Given the description of an element on the screen output the (x, y) to click on. 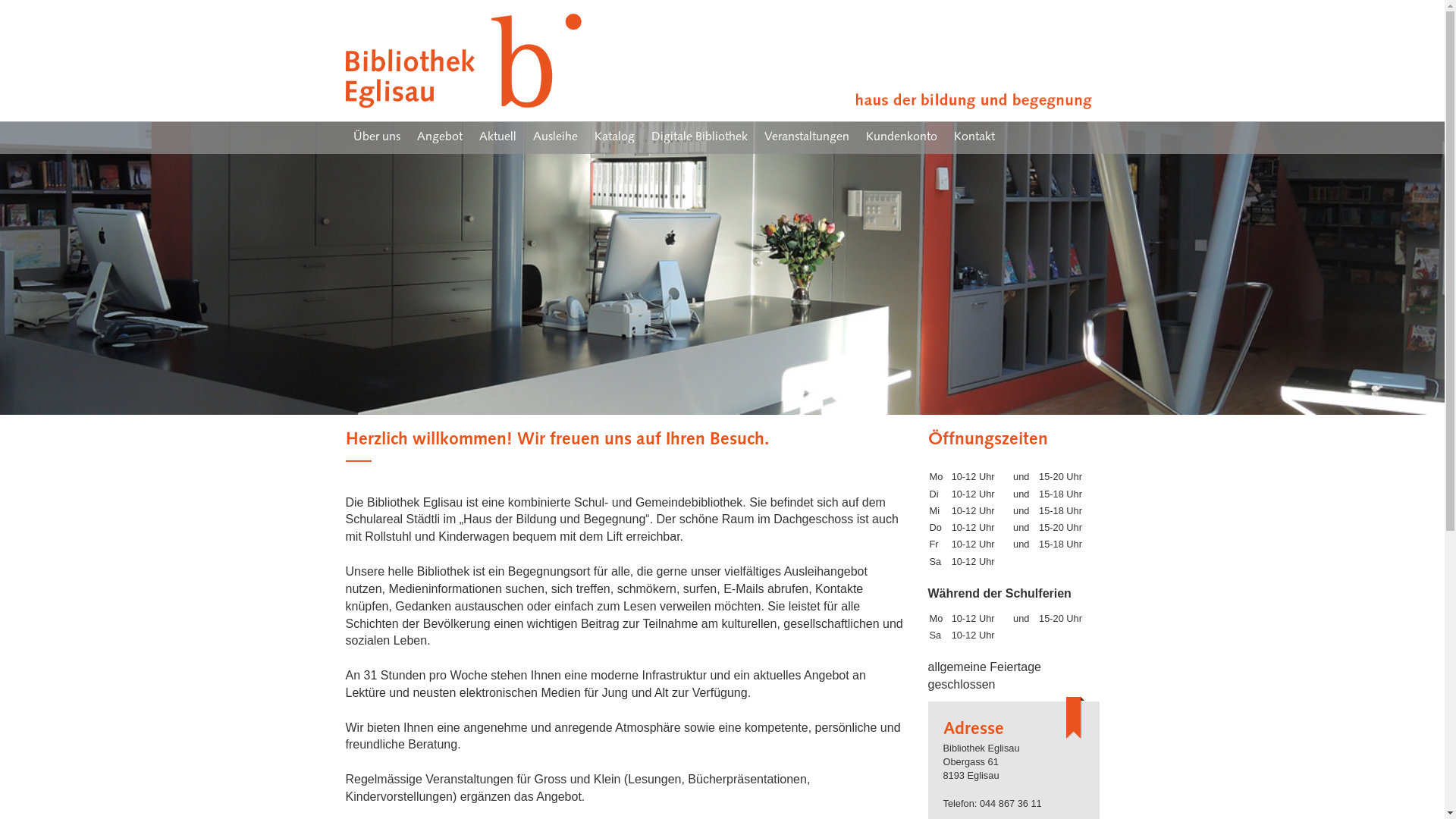
Kontakt Element type: text (974, 137)
Kundenkonto Element type: text (901, 137)
Aktuell Element type: text (497, 137)
Veranstaltungen Element type: text (806, 137)
Digitale Bibliothek Element type: text (698, 137)
Angebot Element type: text (439, 137)
Katalog Element type: text (614, 137)
Ausleihe Element type: text (554, 137)
